Given the description of an element on the screen output the (x, y) to click on. 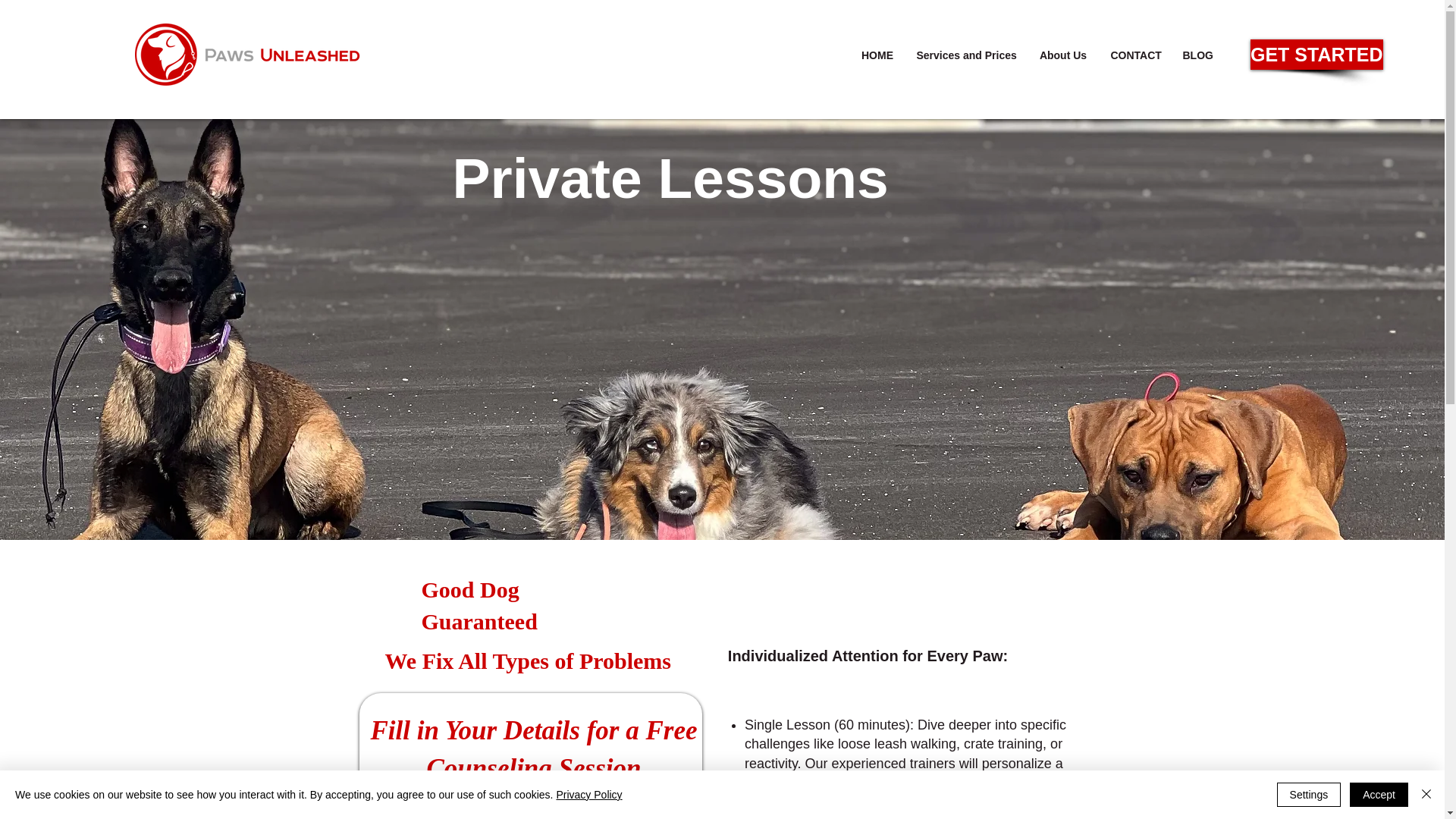
CONTACT (1135, 55)
Services and Prices (966, 55)
Privacy Policy (588, 794)
BLOG (1196, 55)
Accept (1378, 794)
GET STARTED (1316, 54)
About Us (1062, 55)
HOME (876, 55)
rgbp.png (549, 27)
Settings (1308, 794)
